Given the description of an element on the screen output the (x, y) to click on. 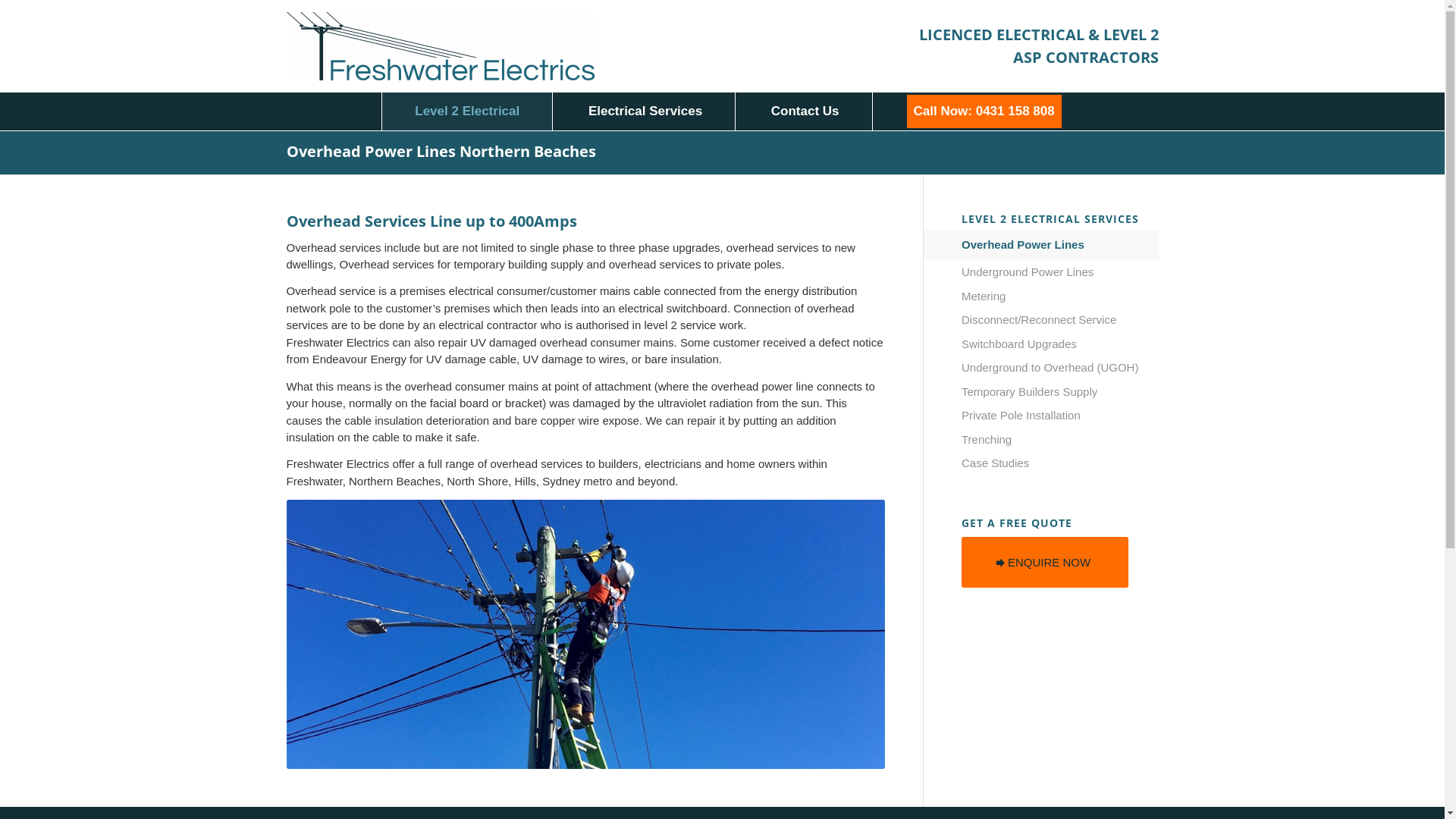
Disconnect/Reconnect Service Element type: text (1059, 320)
Electrical Services Element type: text (645, 111)
Level 2 Electrical Element type: text (466, 111)
Switchboard Upgrades Element type: text (1059, 344)
Metering Element type: text (1059, 297)
Private Pole Installation Element type: text (1059, 416)
opl Element type: hover (585, 633)
Call Now: 0431 158 808 Element type: text (984, 111)
Underground to Overhead (UGOH) Element type: text (1059, 368)
Temporary Builders Supply Element type: text (1059, 392)
Overhead Power Lines Northern Beaches Element type: text (441, 151)
Underground Power Lines Element type: text (1059, 272)
Contact Us Element type: text (805, 111)
ENQUIRE NOW Element type: text (1044, 561)
Trenching Element type: text (1059, 440)
Case Studies Element type: text (1059, 463)
Overhead Power Lines Element type: text (1059, 245)
